Given the description of an element on the screen output the (x, y) to click on. 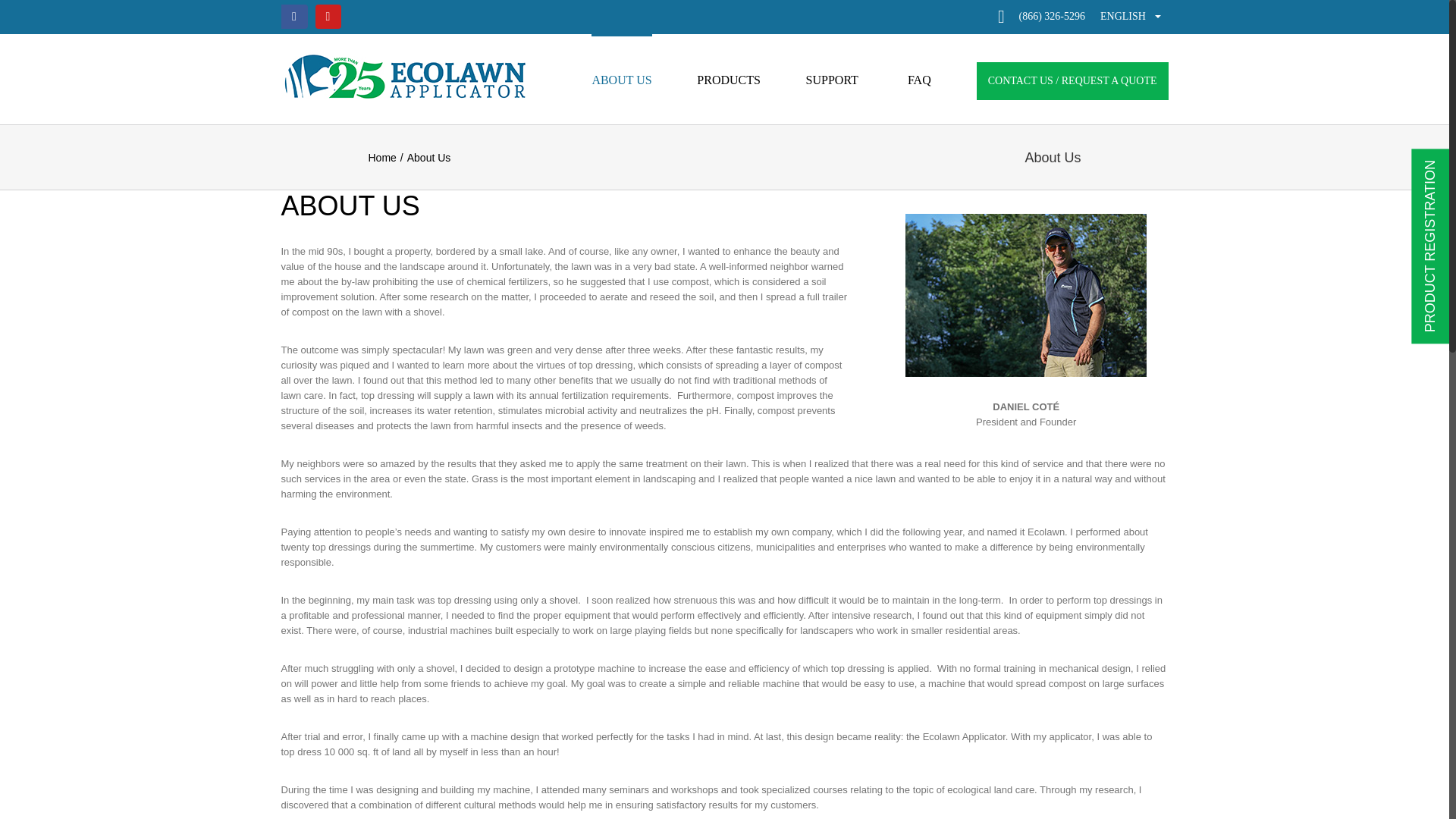
Daniel (1026, 294)
Facebook (292, 16)
ENGLISH (1133, 16)
YouTube (327, 16)
